Given the description of an element on the screen output the (x, y) to click on. 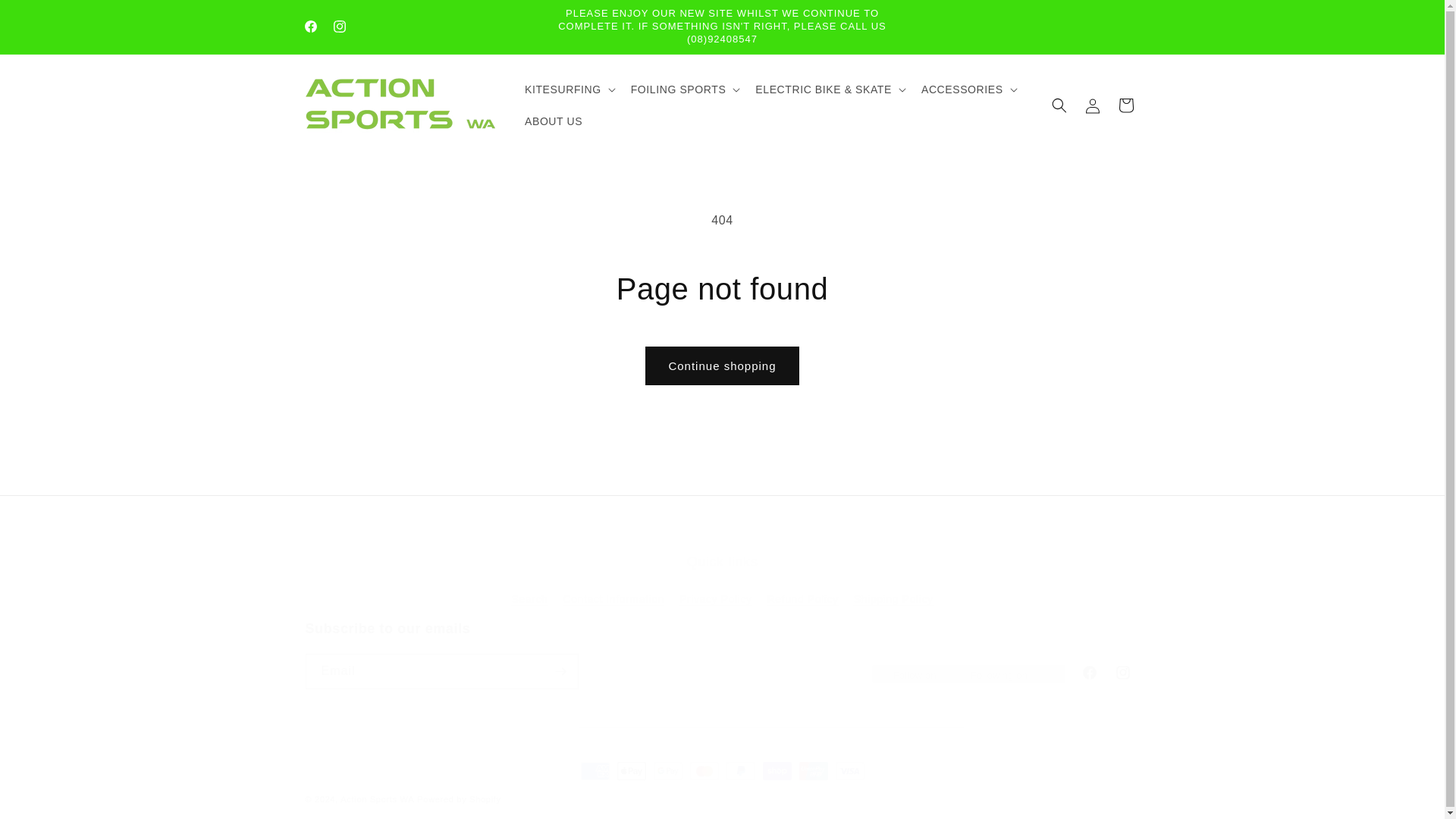
Skip to content (47, 18)
Facebook (309, 26)
Instagram (721, 653)
